Given the description of an element on the screen output the (x, y) to click on. 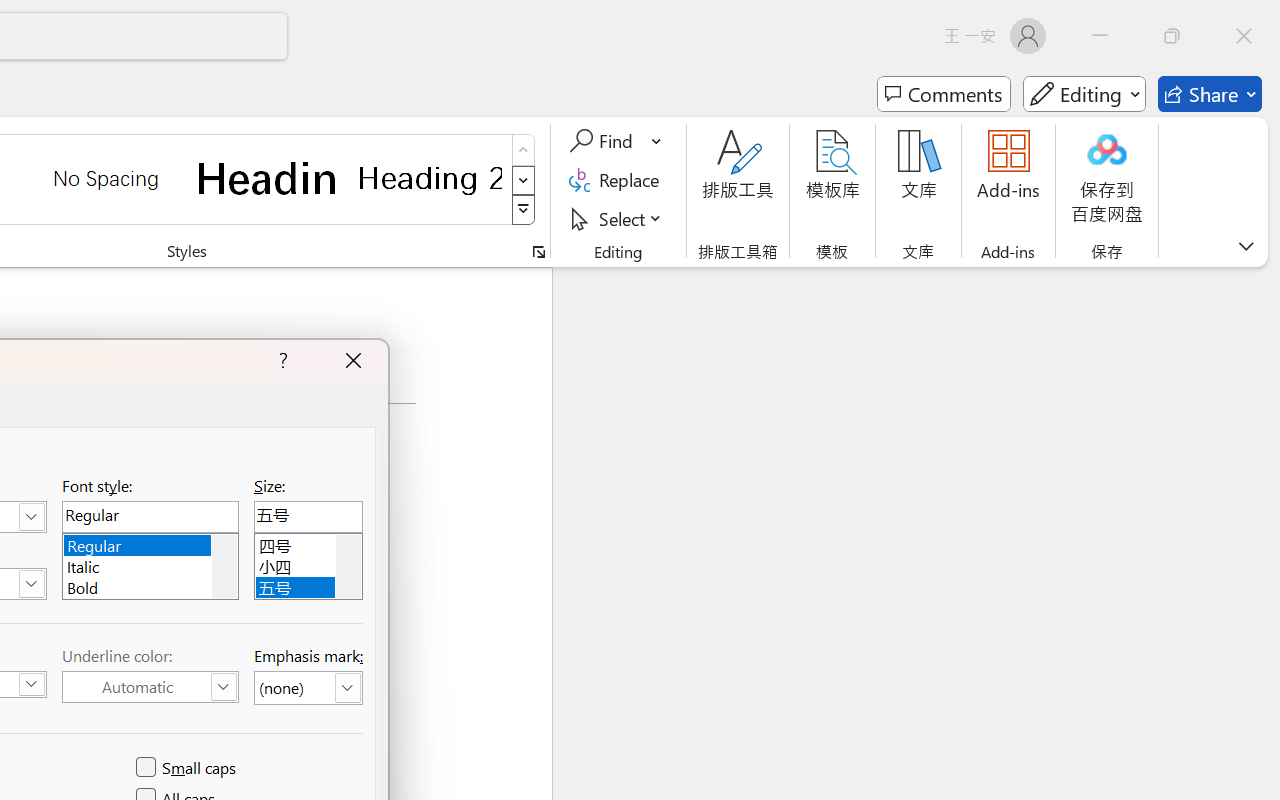
Select (618, 218)
Styles... (538, 252)
Emphasis mark: (308, 687)
AutomationID: 1797 (347, 566)
Heading 1 (267, 178)
Italic (150, 564)
Size: (308, 516)
Replace... (617, 179)
